Given the description of an element on the screen output the (x, y) to click on. 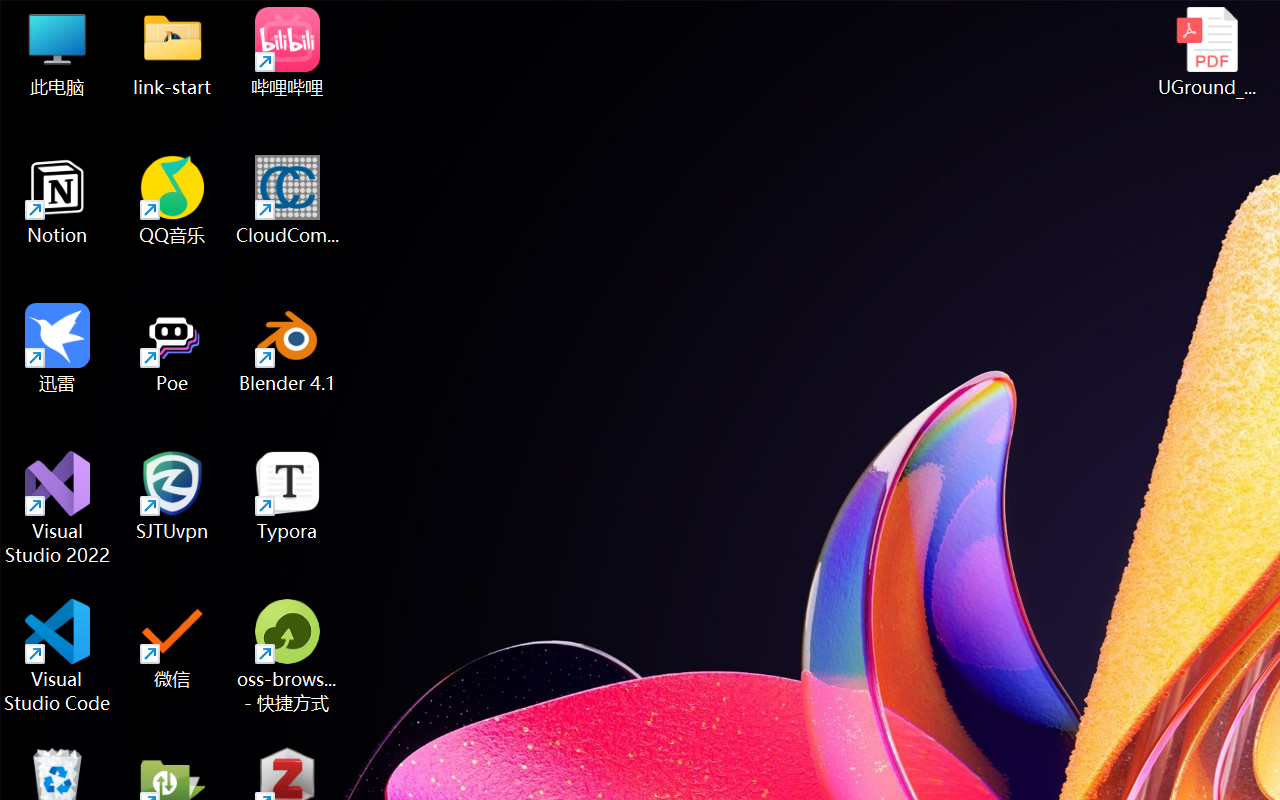
UGround_paper.pdf (1206, 52)
Typora (287, 496)
SJTUvpn (172, 496)
CloudCompare (287, 200)
Visual Studio 2022 (57, 508)
Blender 4.1 (287, 348)
Visual Studio Code (57, 656)
